Given the description of an element on the screen output the (x, y) to click on. 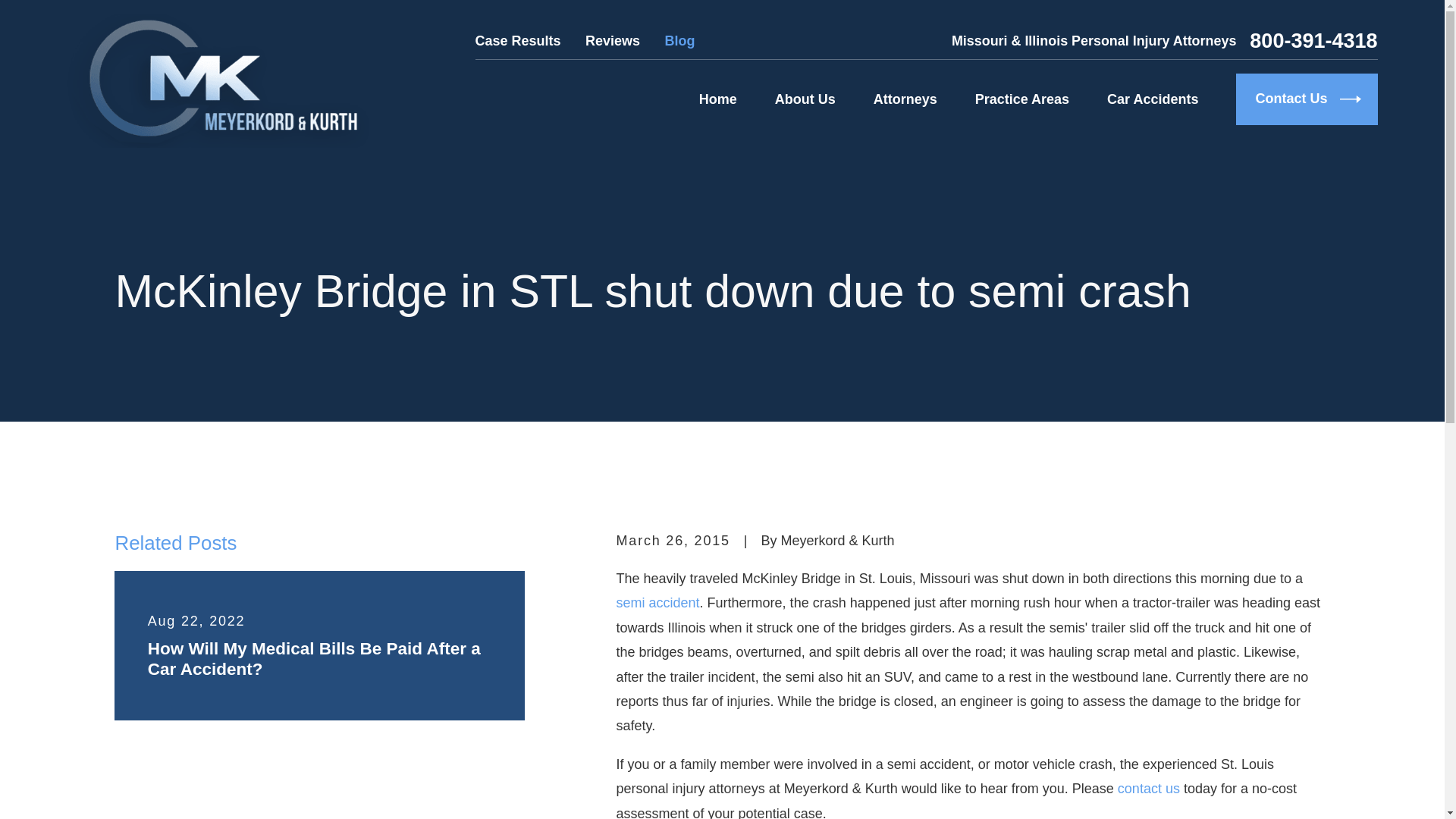
Car Accidents (1152, 99)
Home (217, 80)
Attorneys (905, 99)
About Us (804, 99)
Practice Areas (1021, 99)
Reviews (612, 40)
800-391-4318 (1313, 41)
Blog (678, 40)
Case Results (518, 40)
